Given the description of an element on the screen output the (x, y) to click on. 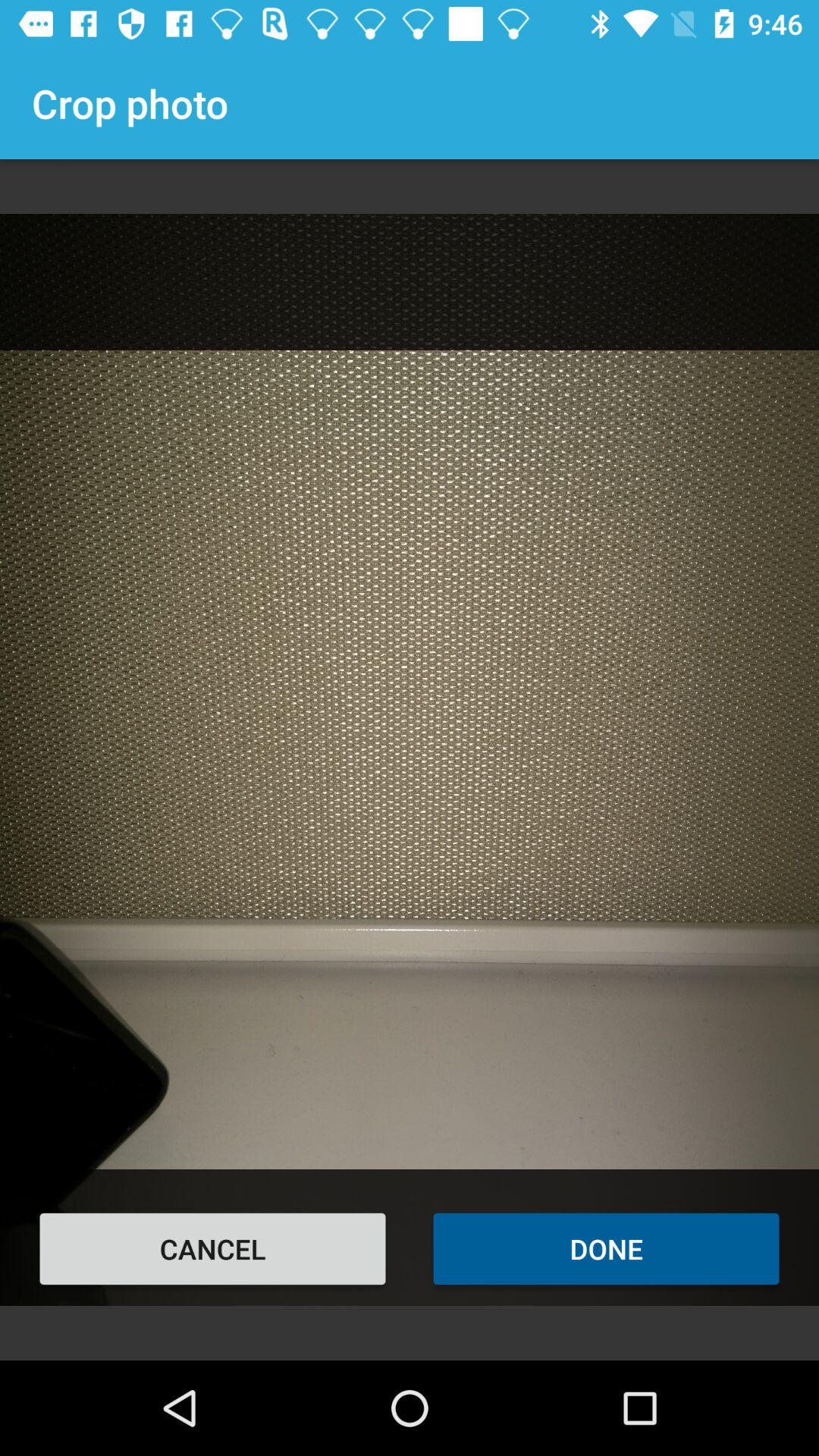
choose the done at the bottom right corner (606, 1248)
